Given the description of an element on the screen output the (x, y) to click on. 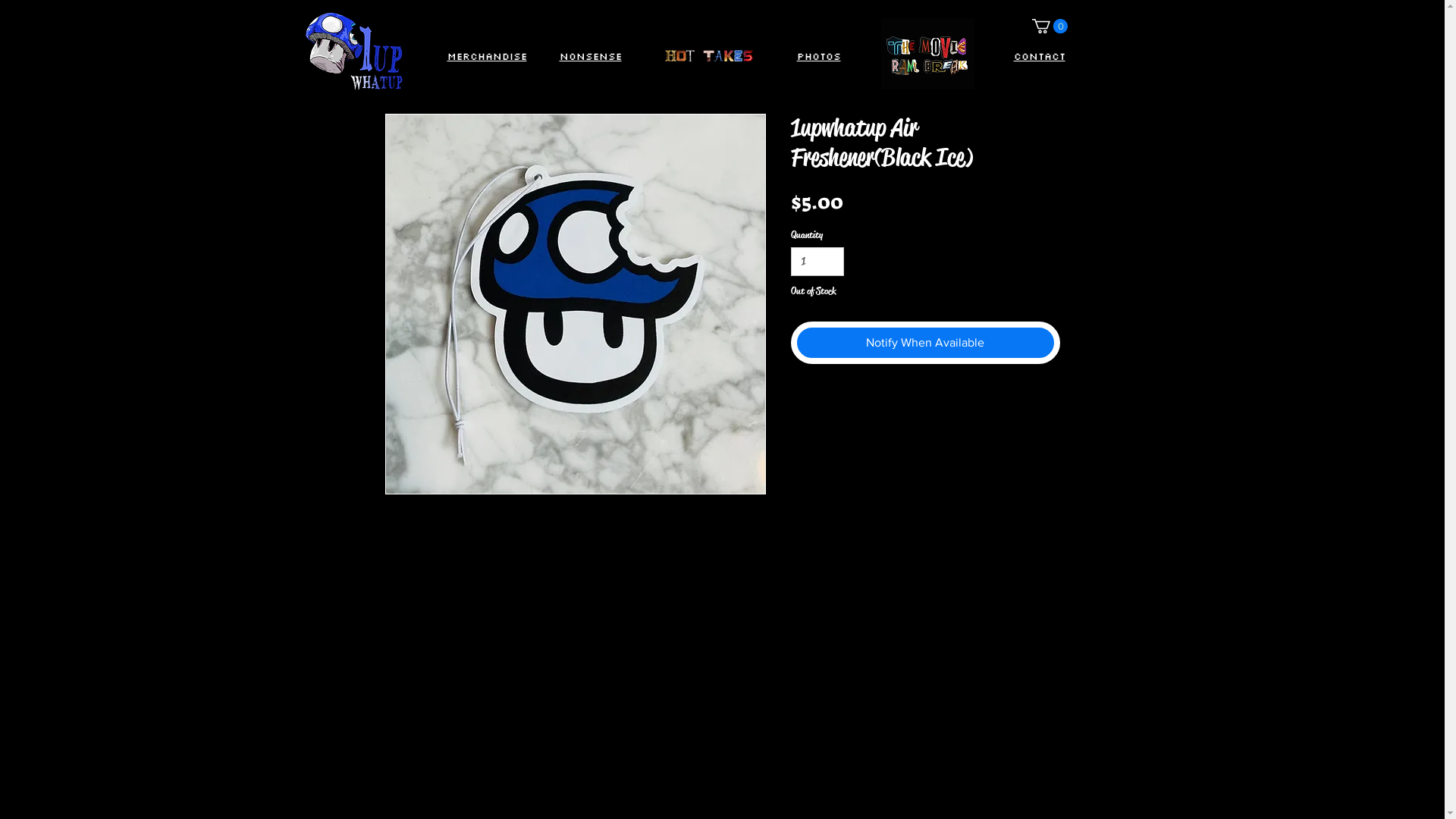
New Movie rant break.png Element type: hover (927, 53)
Notify When Available Element type: text (924, 342)
nonsense Element type: text (590, 56)
Photos Element type: text (818, 56)
0 Element type: text (1048, 25)
contact Element type: text (1038, 56)
merchandise Element type: text (487, 56)
